Given the description of an element on the screen output the (x, y) to click on. 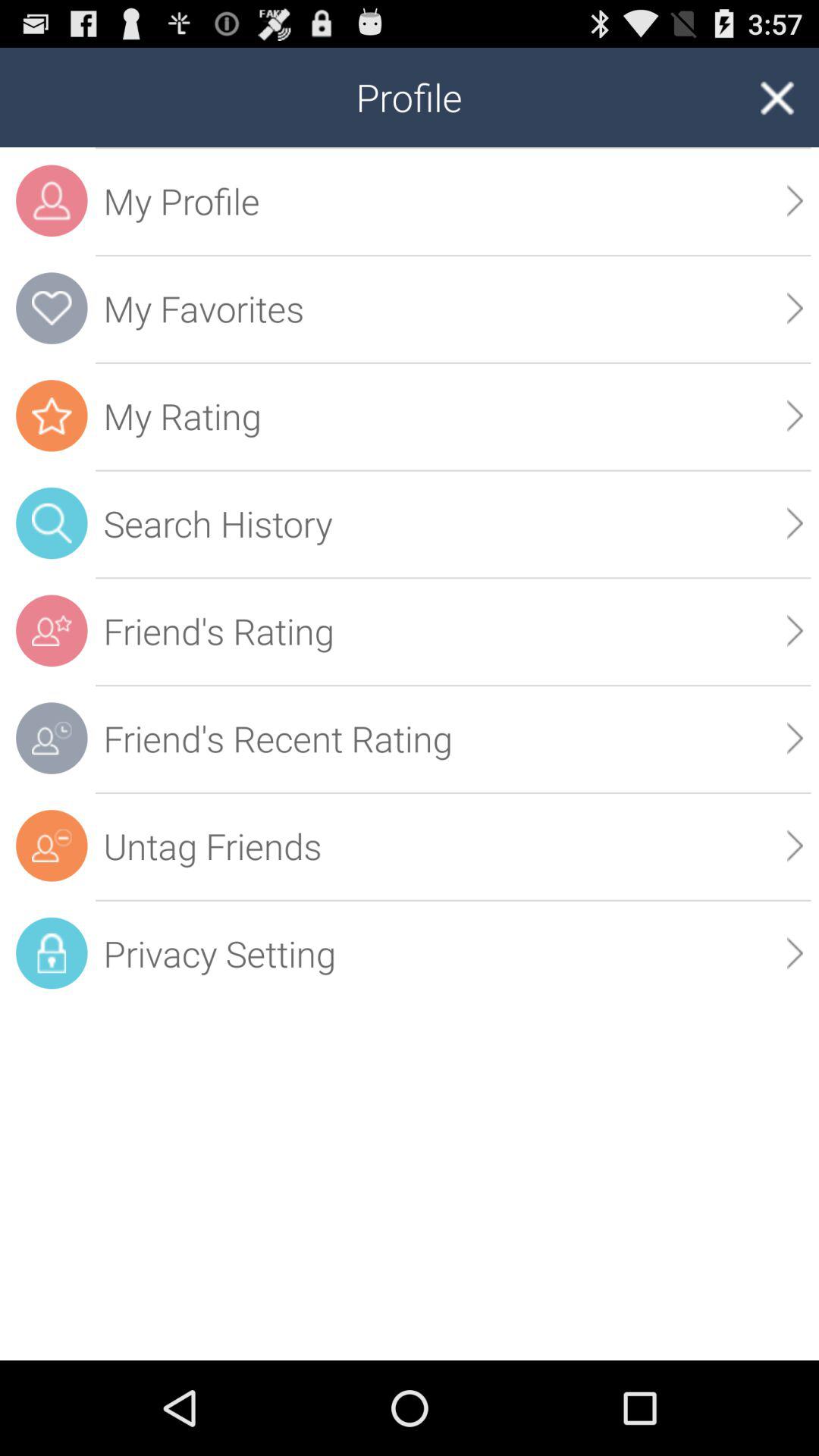
click the app below the my favorites app (795, 415)
